Given the description of an element on the screen output the (x, y) to click on. 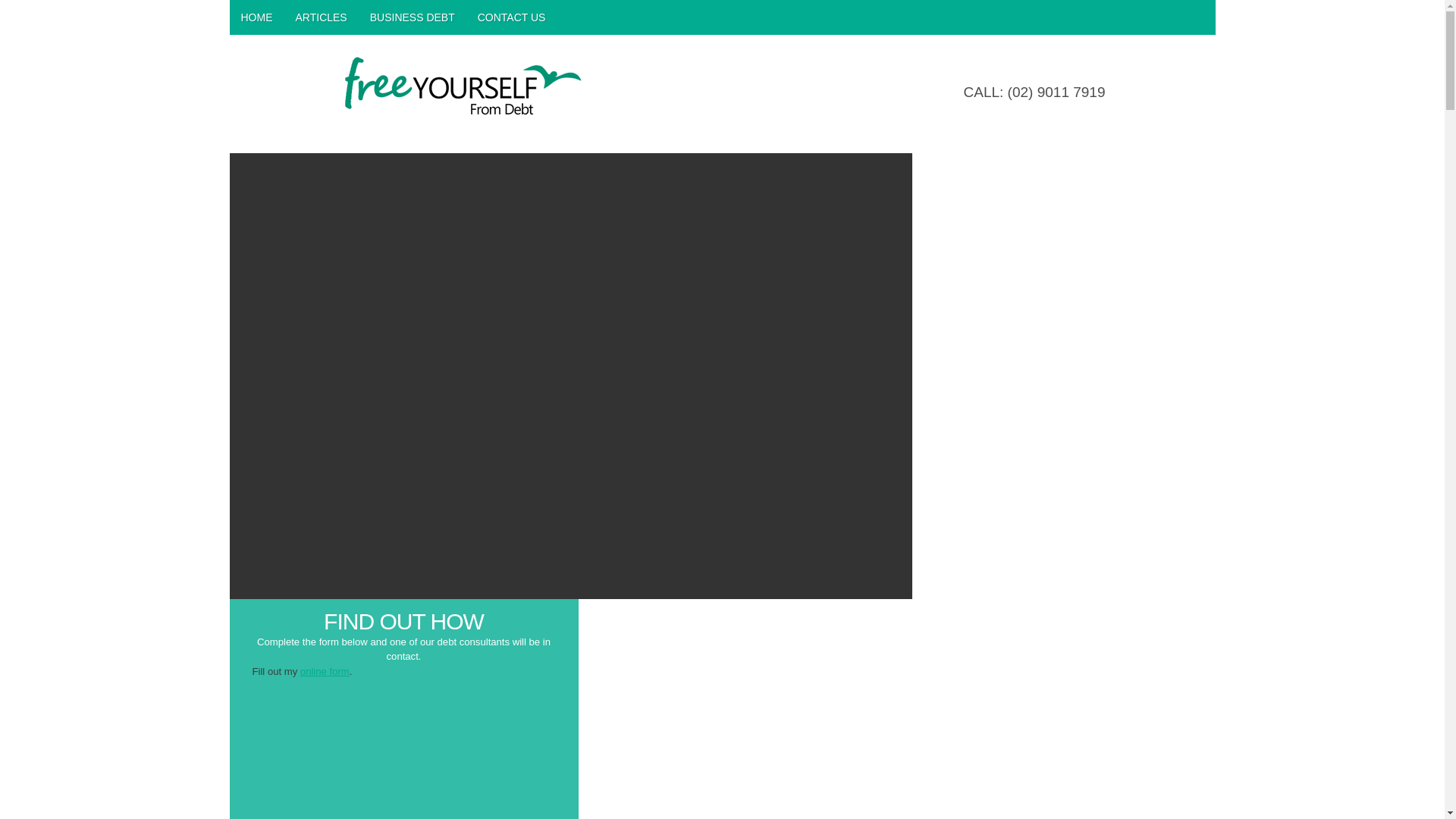
HOME Element type: text (256, 17)
CONTACT US Element type: text (511, 17)
ARTICLES Element type: text (320, 17)
BUSINESS DEBT Element type: text (412, 17)
online form Element type: text (324, 671)
